Given the description of an element on the screen output the (x, y) to click on. 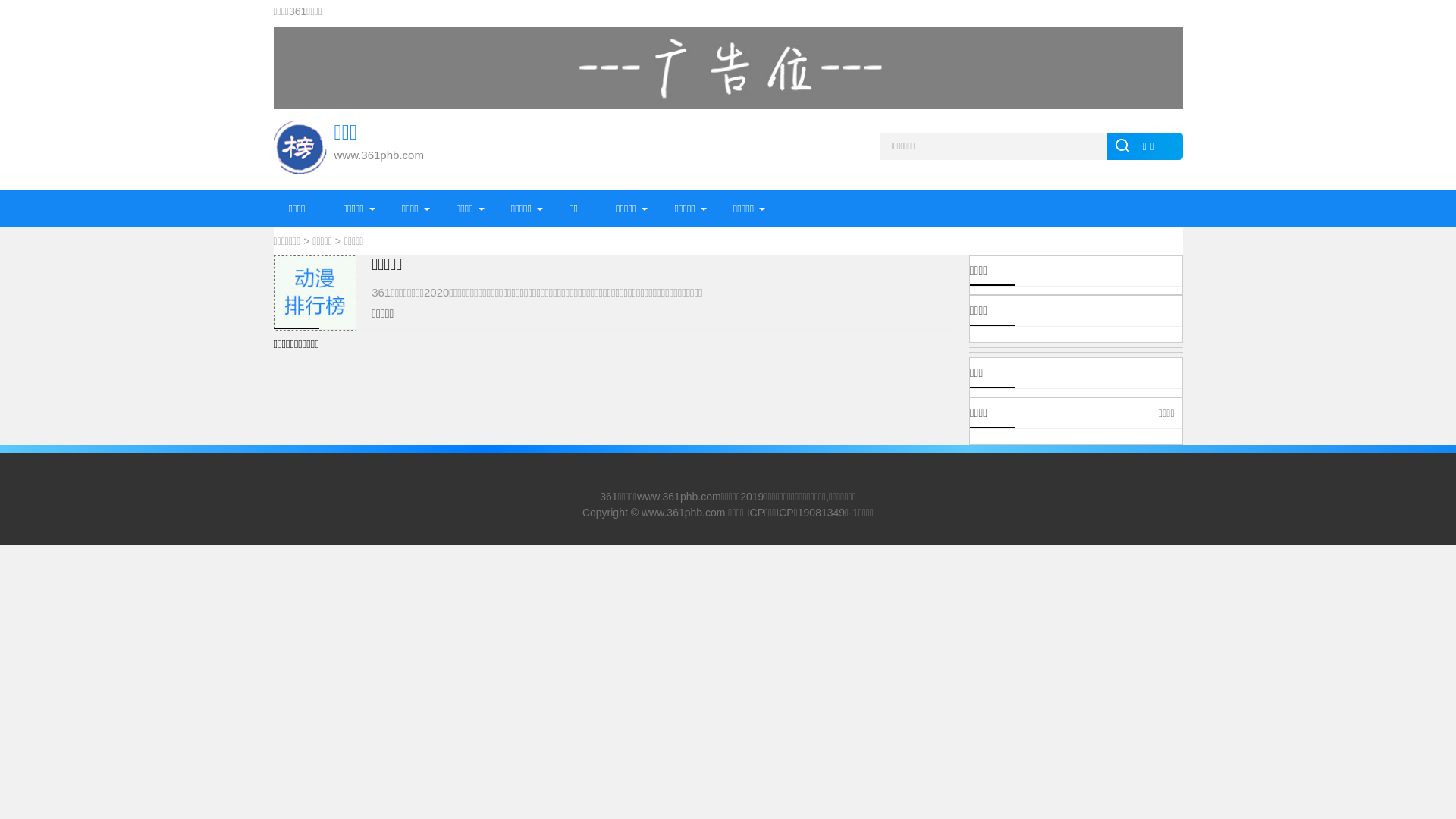
www.361phb.com Element type: text (683, 512)
